Given the description of an element on the screen output the (x, y) to click on. 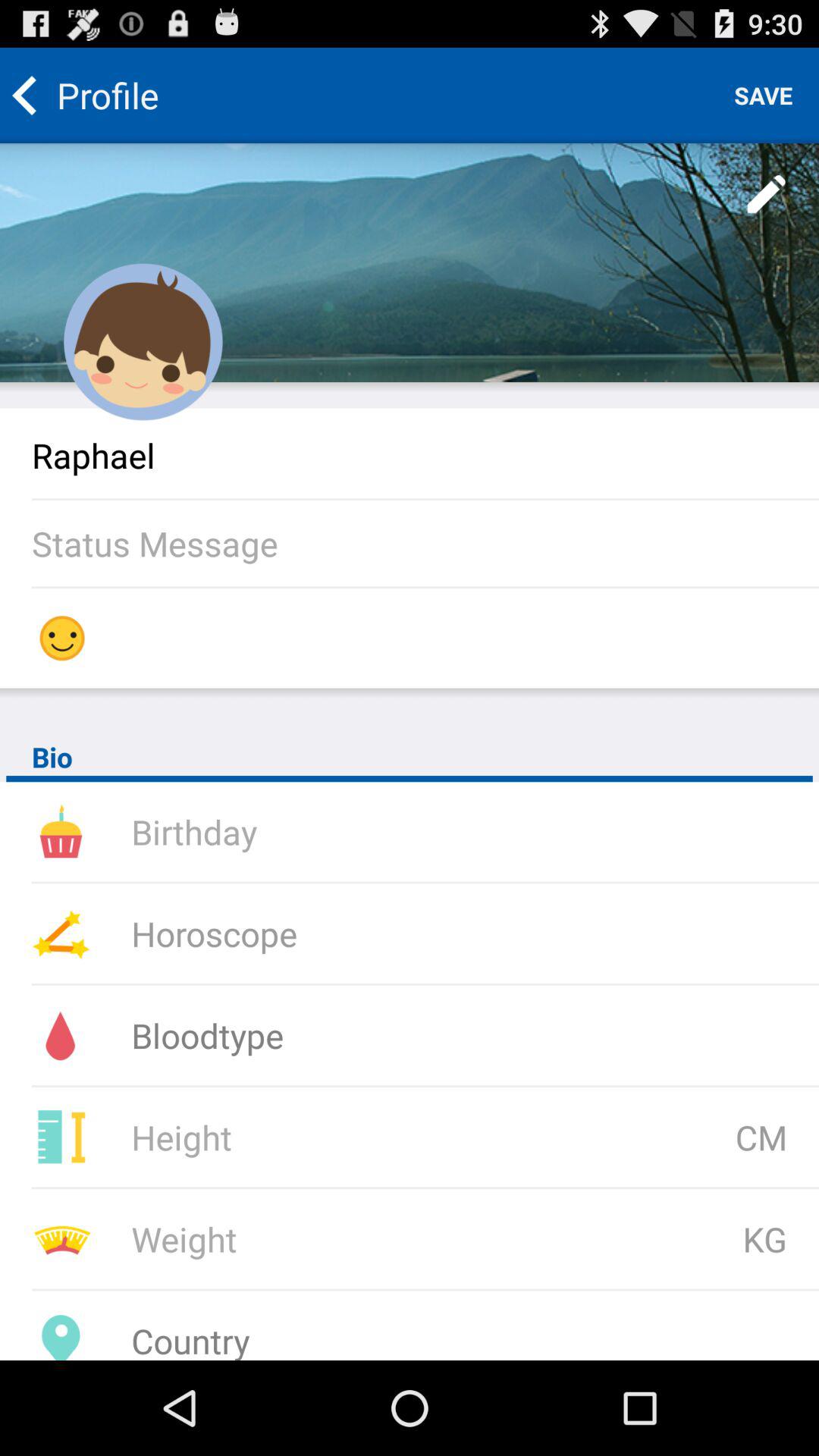
select birthday text (333, 831)
